Given the description of an element on the screen output the (x, y) to click on. 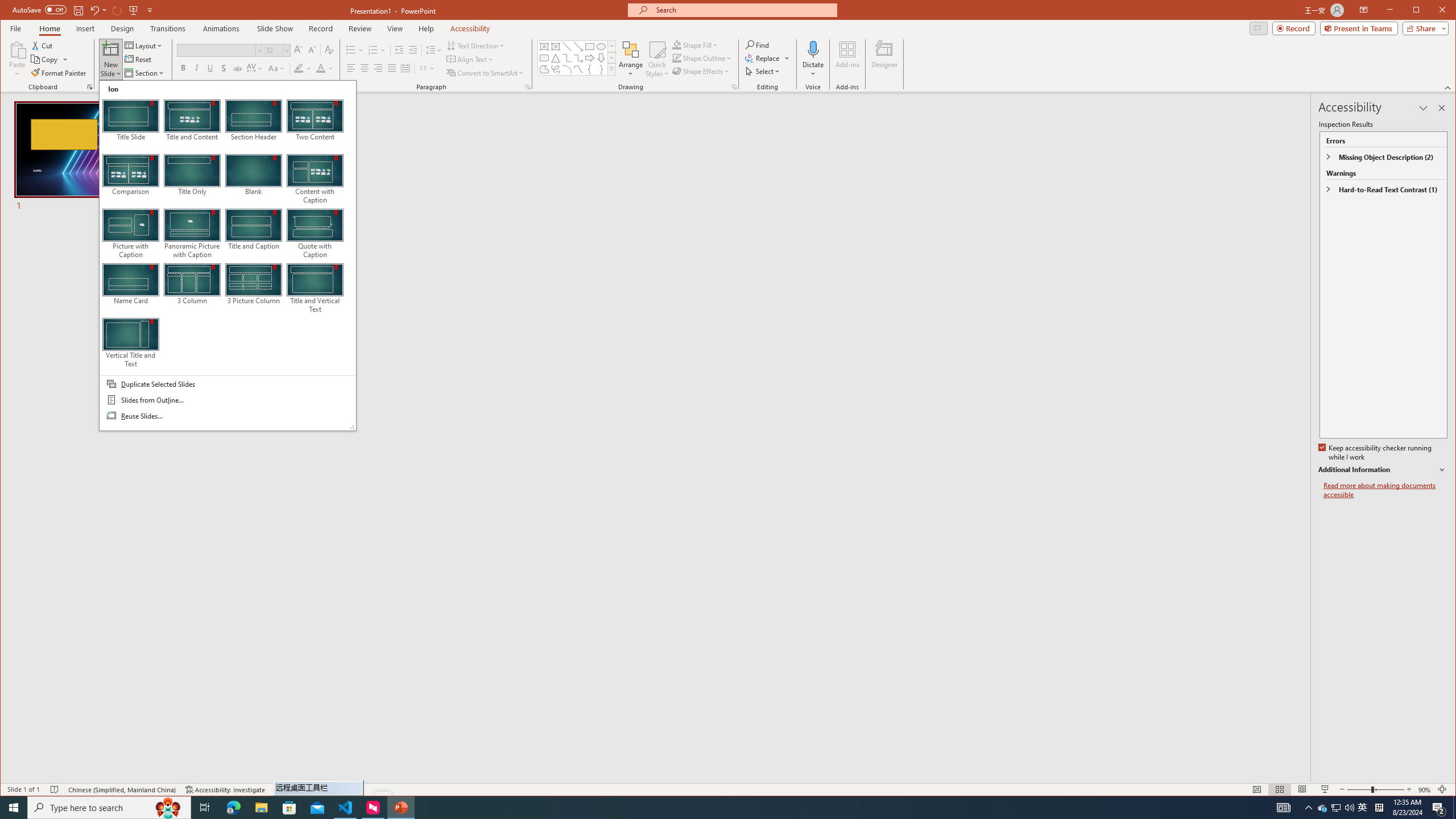
Zoom 90% (1424, 789)
